Given the description of an element on the screen output the (x, y) to click on. 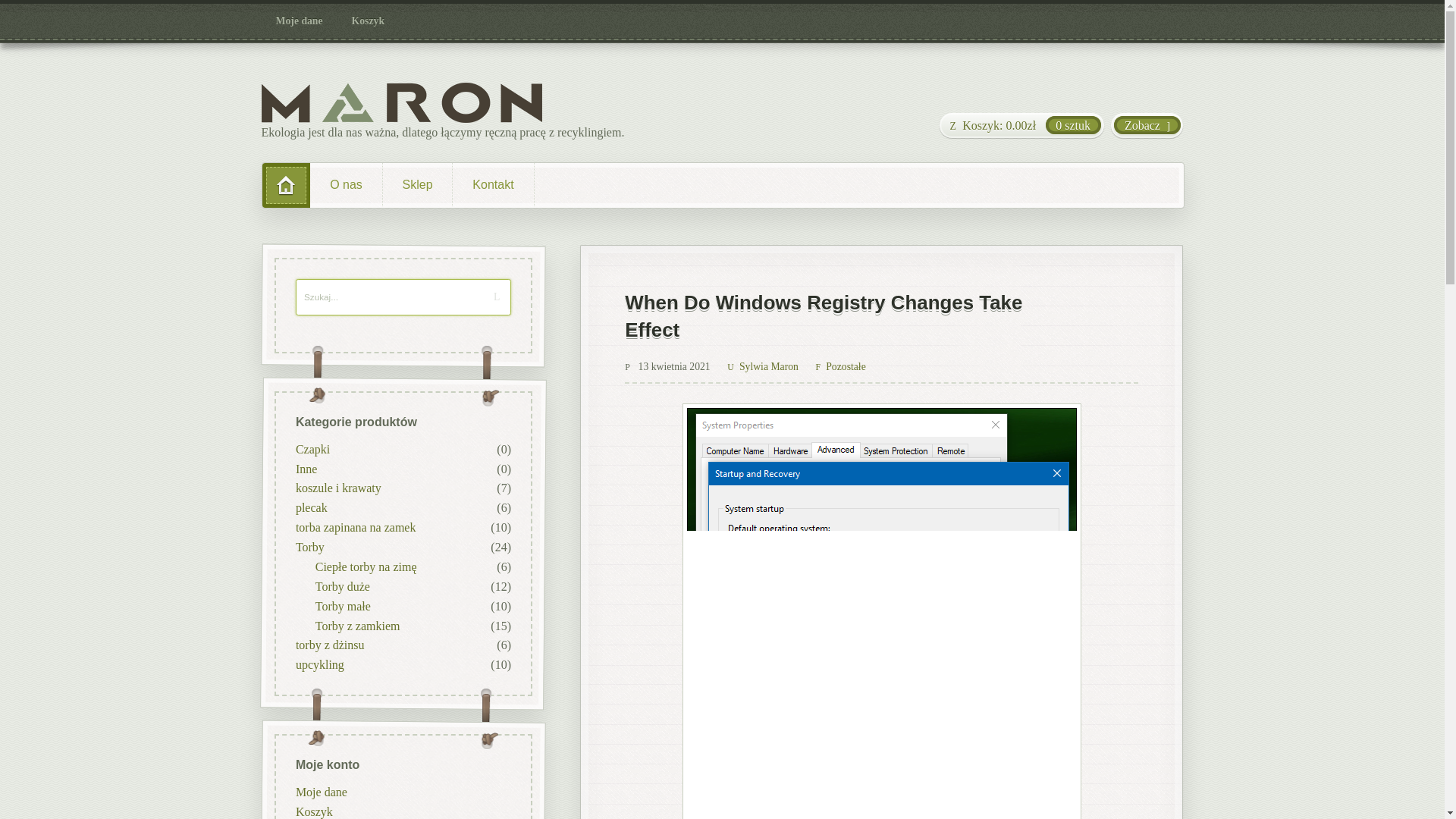
Torby z zamkiem (356, 625)
0 sztuk w twoim koszyku (1021, 125)
plecak (310, 507)
Sklep (417, 184)
Zobacz (1146, 125)
Torby (309, 546)
Kontakt (492, 184)
Moje dane (299, 21)
torba zapinana na zamek (354, 526)
Koszyk (313, 810)
Inne (305, 468)
koszule i krawaty (337, 487)
Czapki (312, 448)
O nas (345, 184)
Koszyk (367, 21)
